Given the description of an element on the screen output the (x, y) to click on. 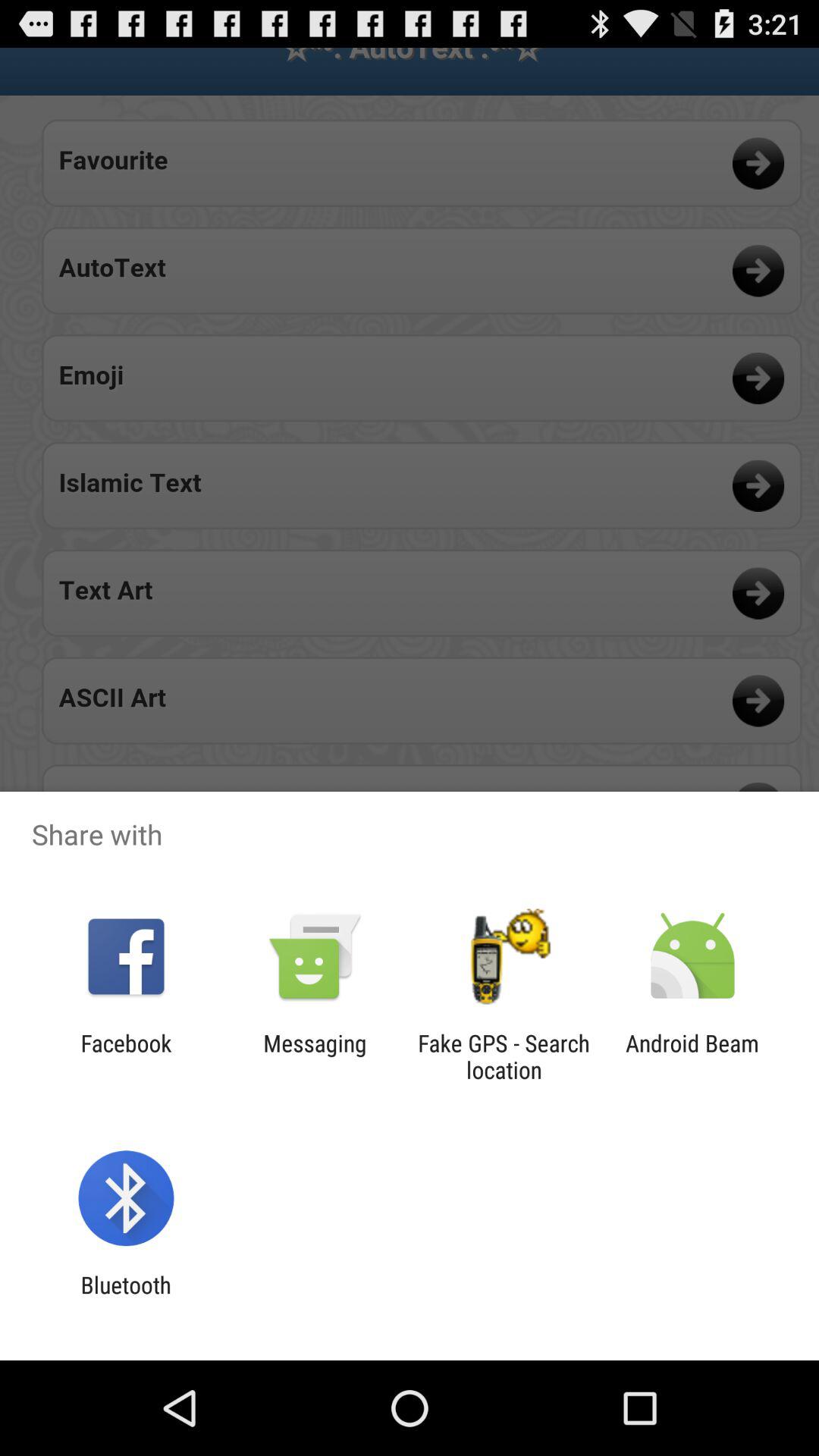
click the item to the left of messaging icon (125, 1056)
